Given the description of an element on the screen output the (x, y) to click on. 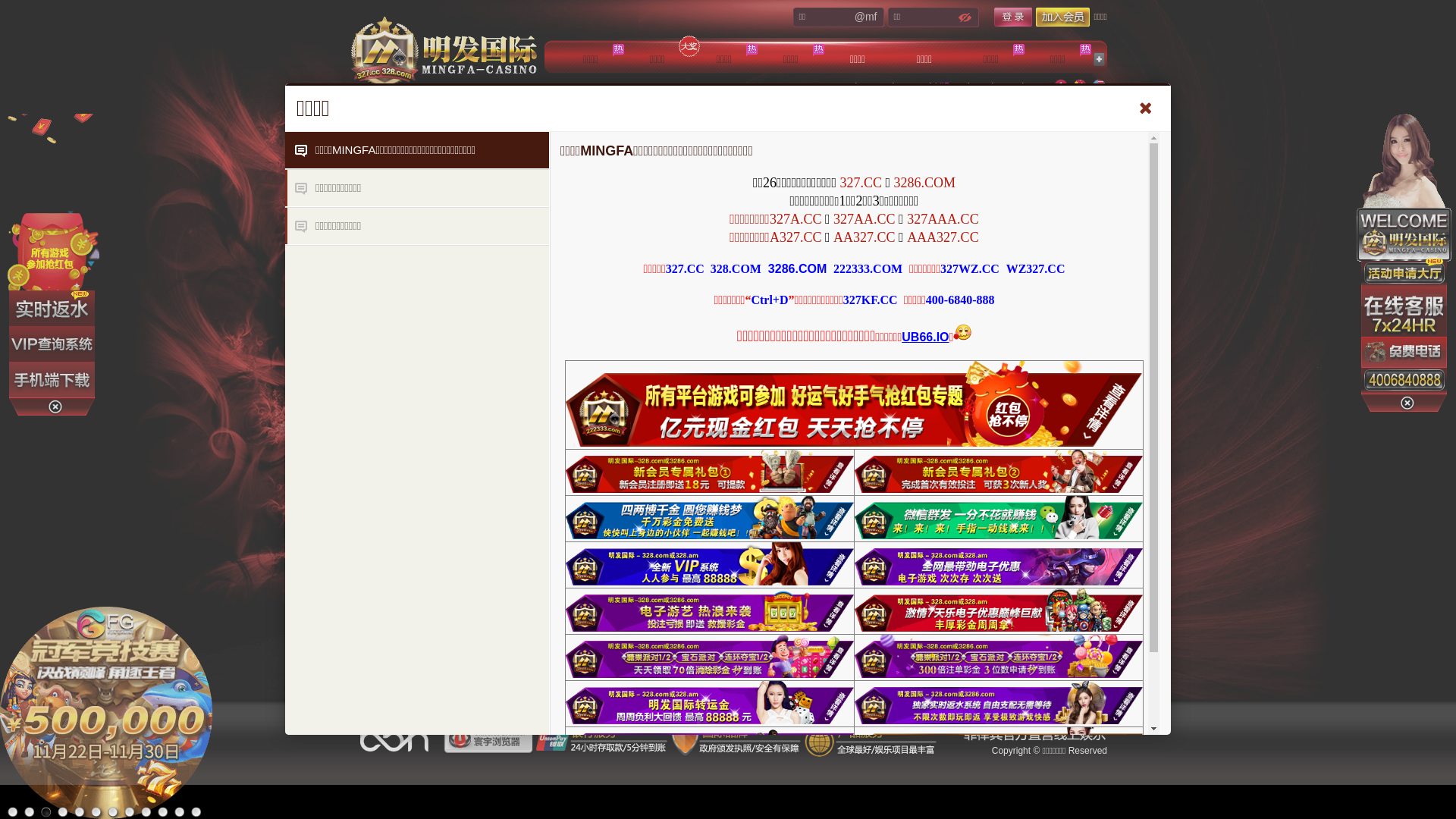
English Element type: hover (1098, 86)
327KF.CC Element type: text (870, 299)
UB66.IO Element type: text (924, 336)
